Given the description of an element on the screen output the (x, y) to click on. 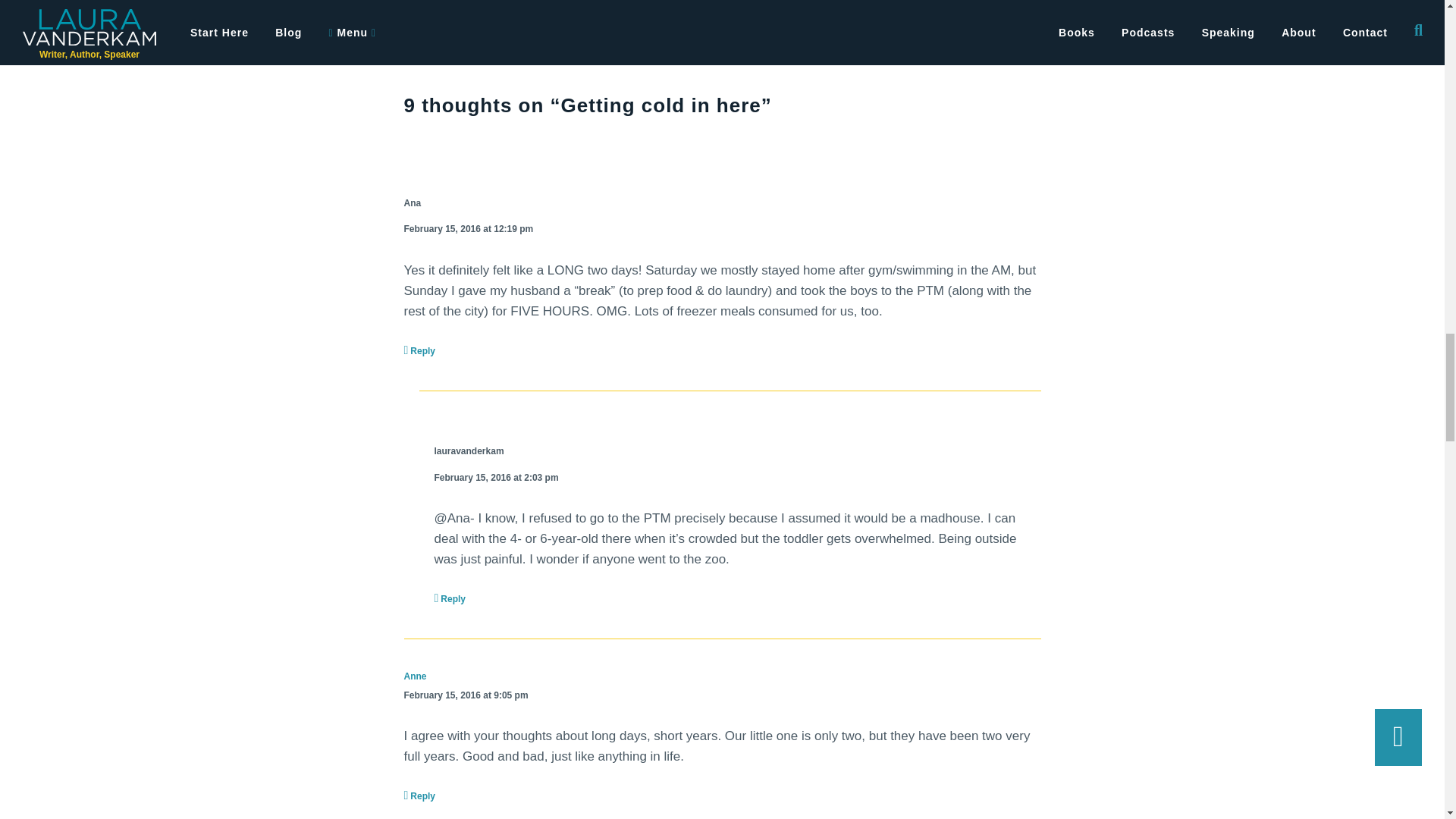
lauravanderkam (468, 451)
February 15, 2016 at 12:19 pm (467, 228)
Ana (411, 203)
February 15, 2016 at 2:03 pm (495, 477)
Reply (419, 350)
